Given the description of an element on the screen output the (x, y) to click on. 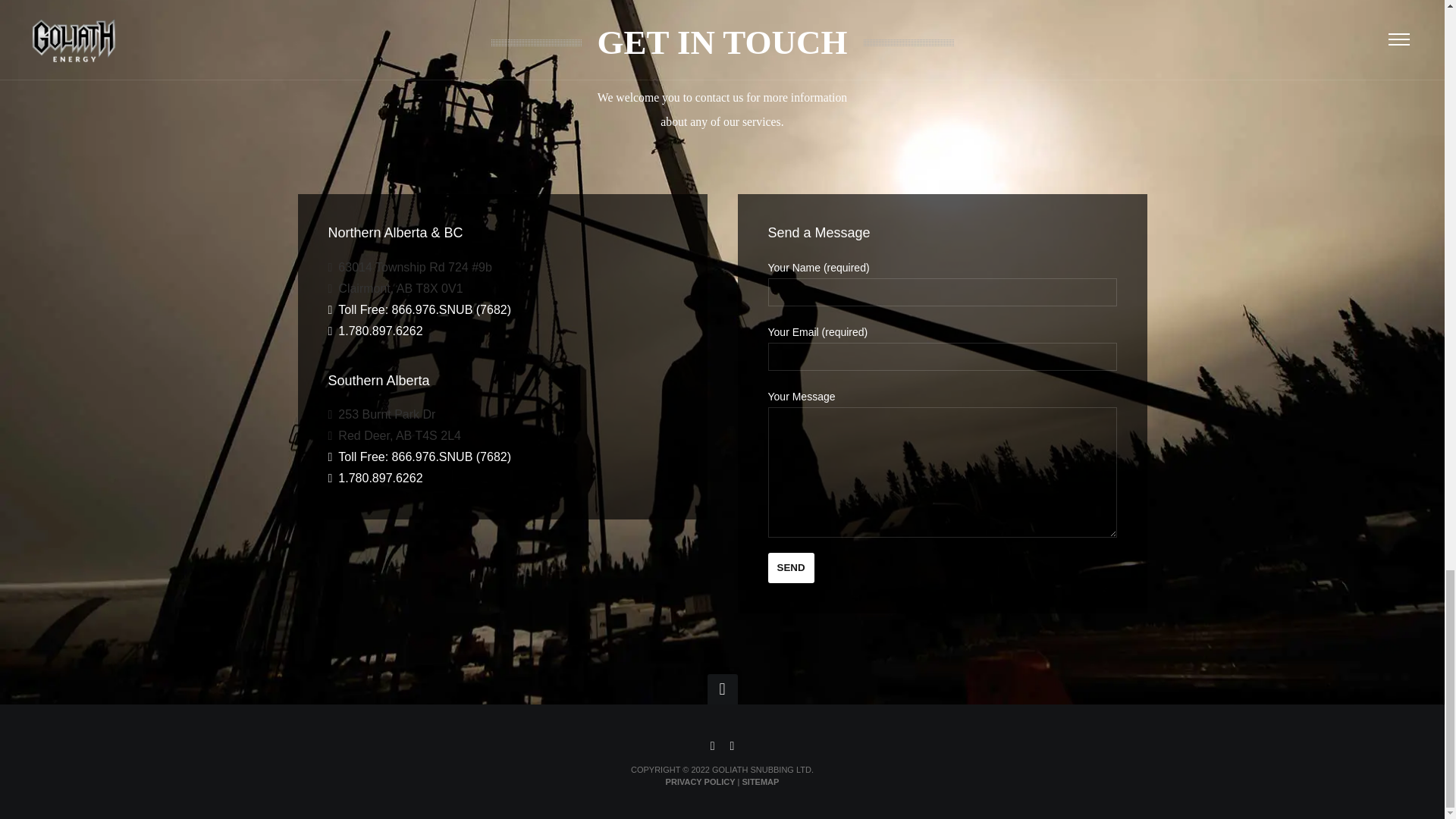
SITEMAP (759, 781)
Send (790, 567)
1.780.897.6262 (374, 477)
PRIVACY POLICY (700, 781)
1.780.897.6262 (374, 331)
Send (790, 567)
